Given the description of an element on the screen output the (x, y) to click on. 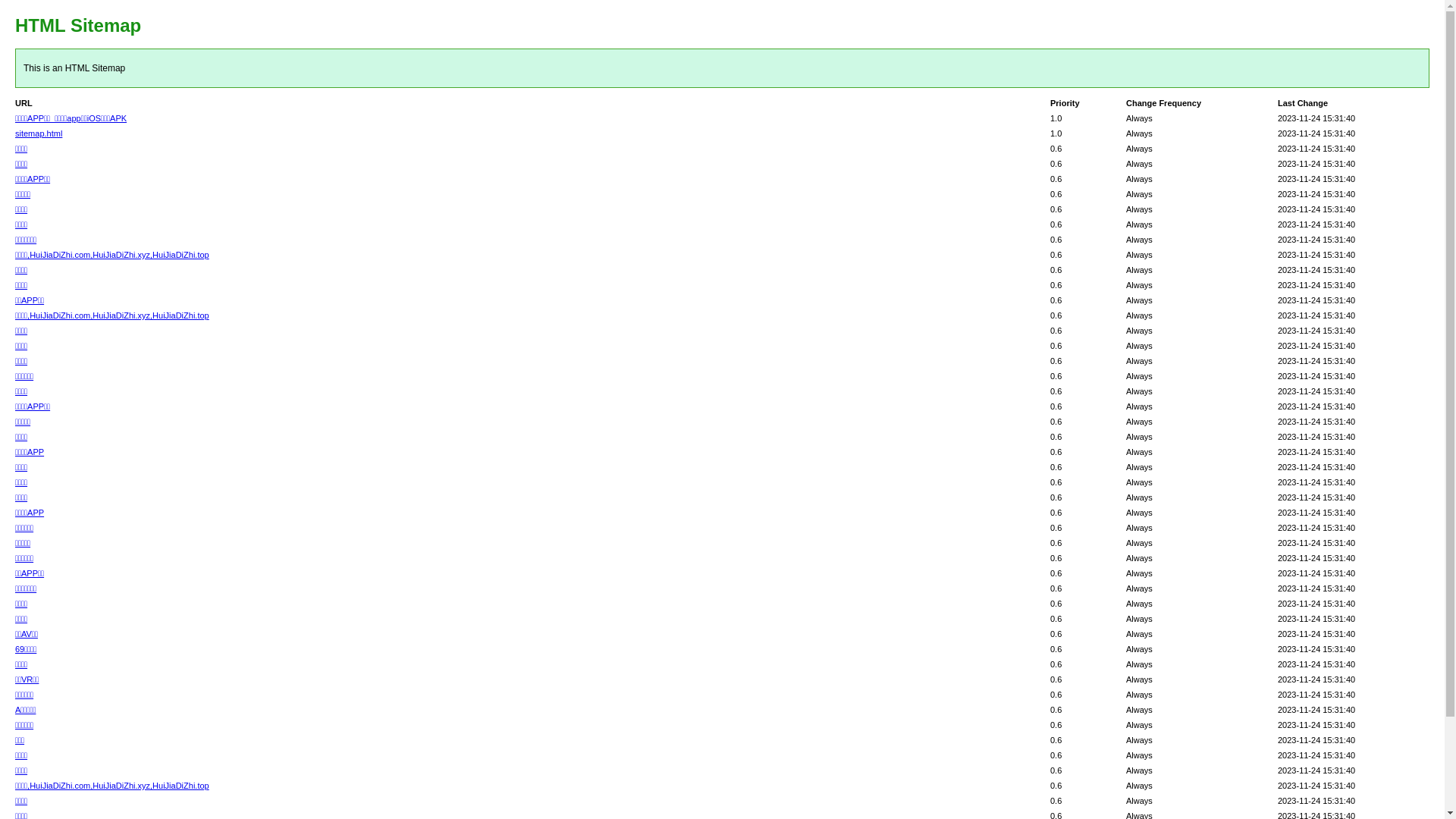
sitemap.html Element type: text (38, 133)
